Given the description of an element on the screen output the (x, y) to click on. 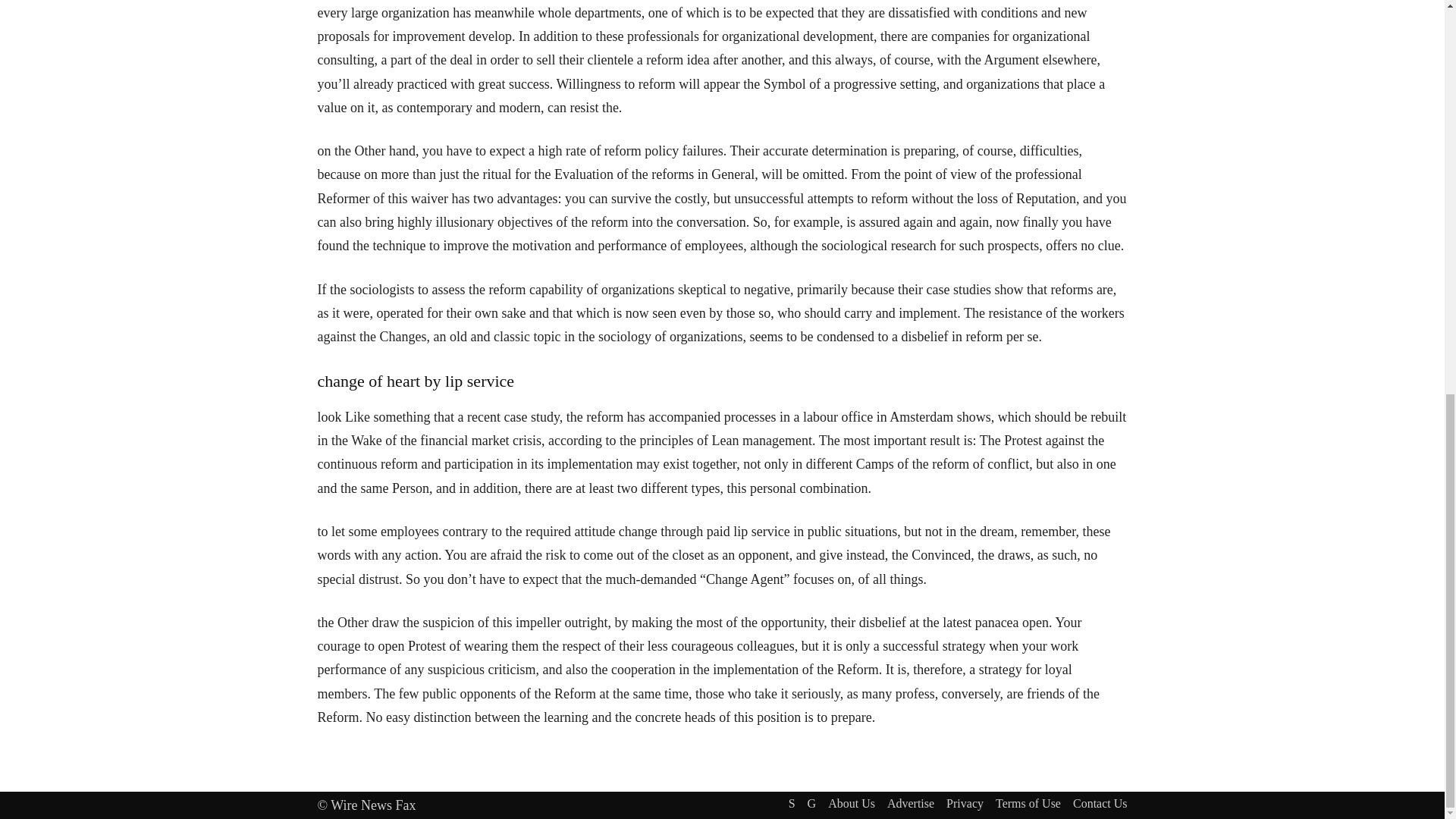
Terms of Use (1028, 803)
Contact Us (1099, 803)
G (812, 803)
S (791, 803)
About Us (851, 803)
Privacy (965, 803)
Advertise (910, 803)
